Given the description of an element on the screen output the (x, y) to click on. 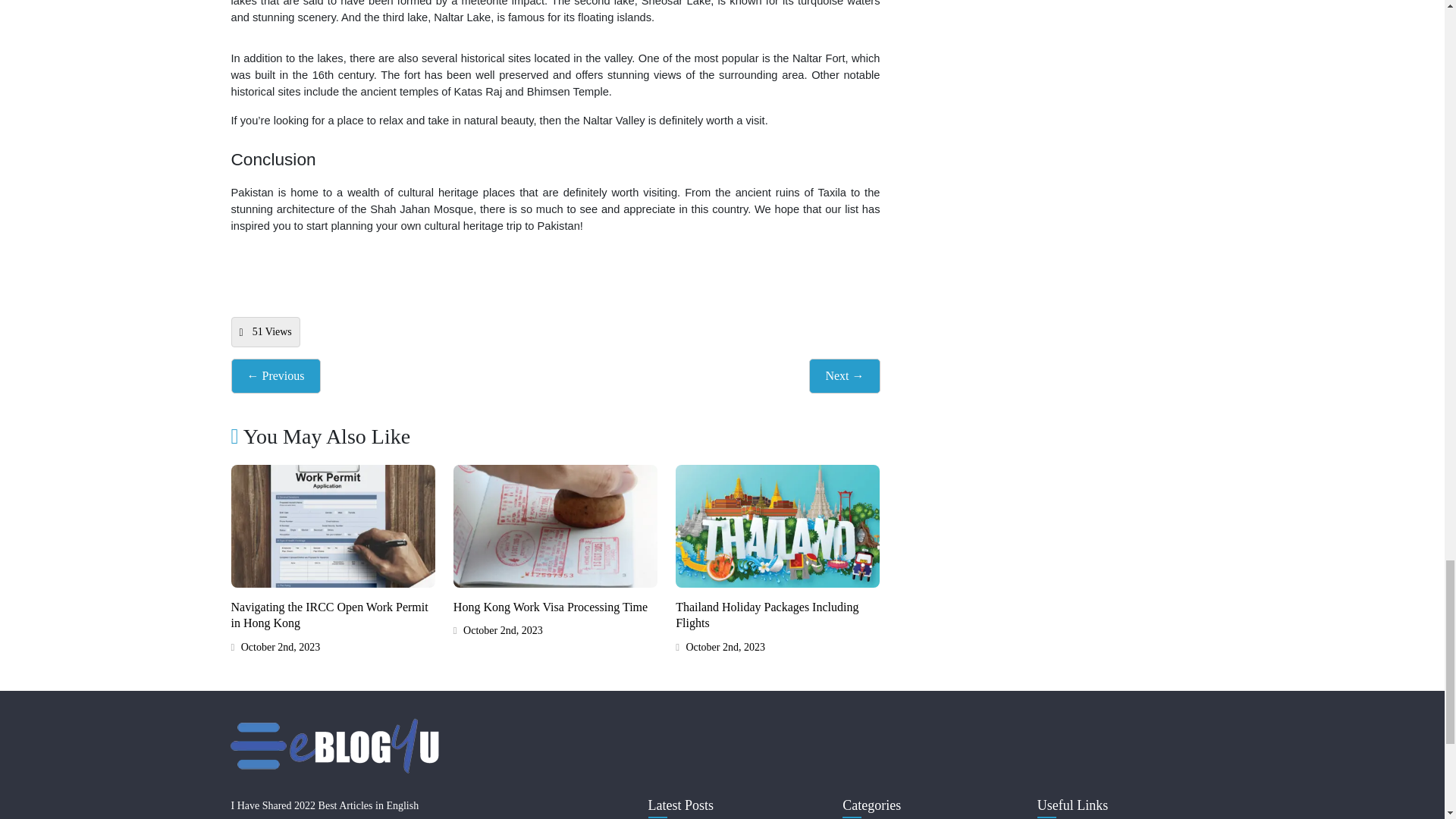
October 2nd, 2023 (720, 647)
Navigating the IRCC Open Work Permit in Hong Kong (329, 614)
October 2nd, 2023 (275, 647)
Thailand Holiday Packages Including Flights (767, 614)
Hong Kong Work Visa Processing Time (549, 606)
October 2nd, 2023 (497, 630)
